Given the description of an element on the screen output the (x, y) to click on. 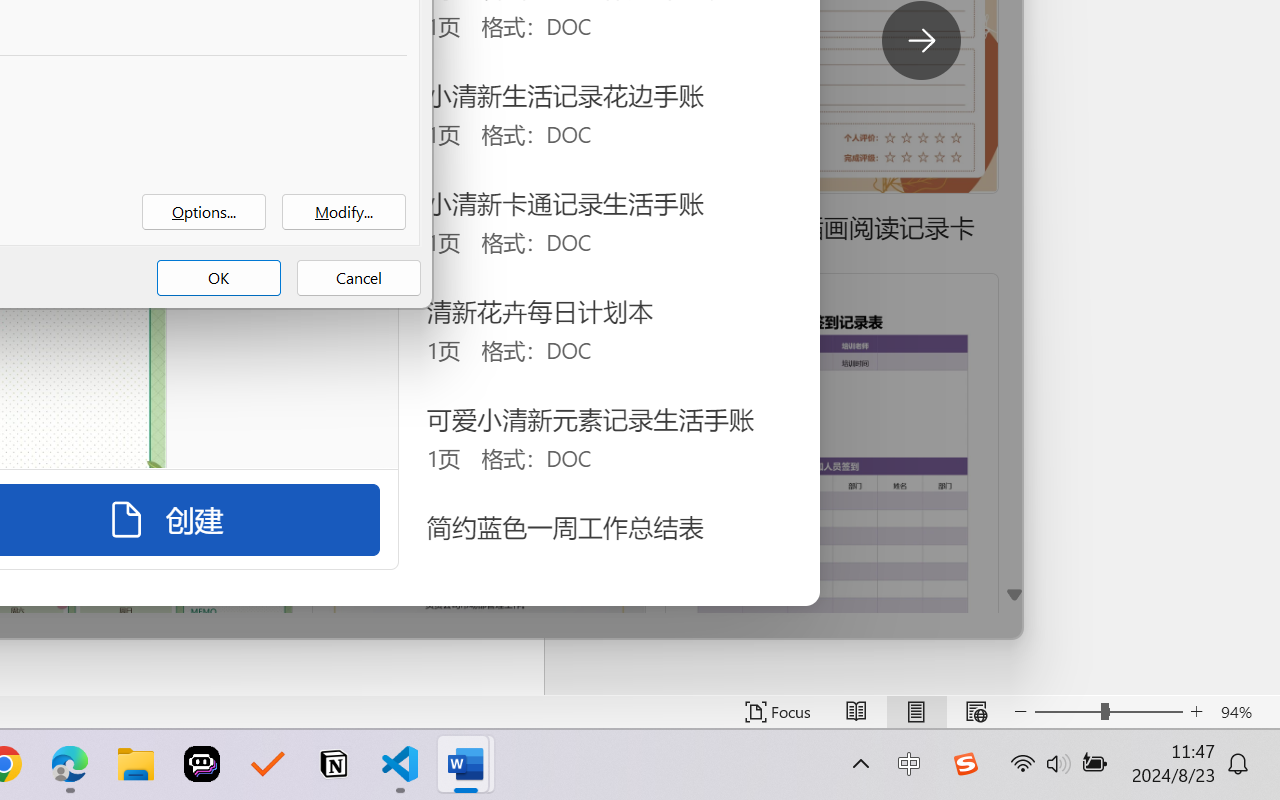
Modify... (344, 211)
Cancel (358, 277)
